Given the description of an element on the screen output the (x, y) to click on. 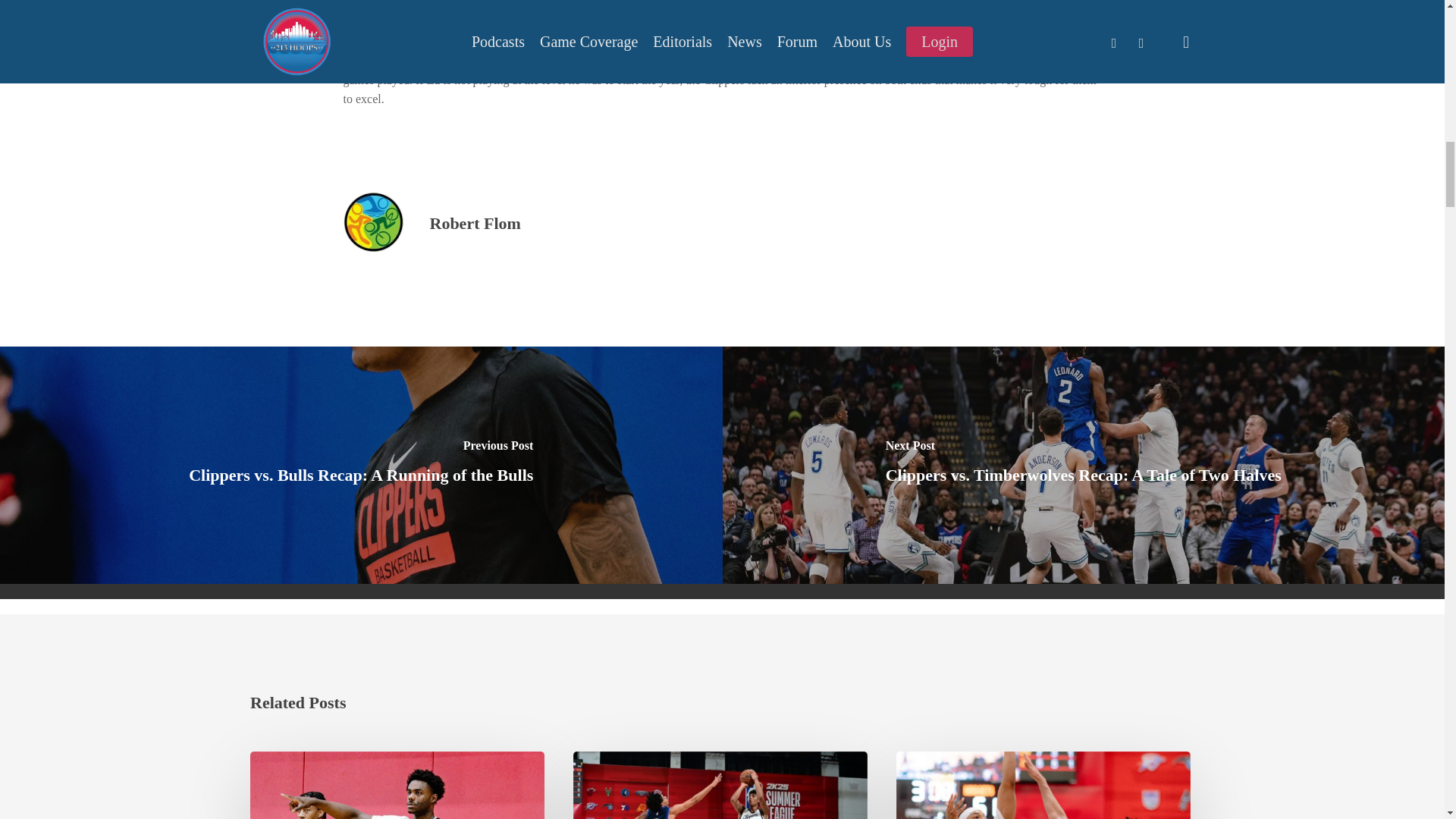
Robert Flom (474, 222)
